Given the description of an element on the screen output the (x, y) to click on. 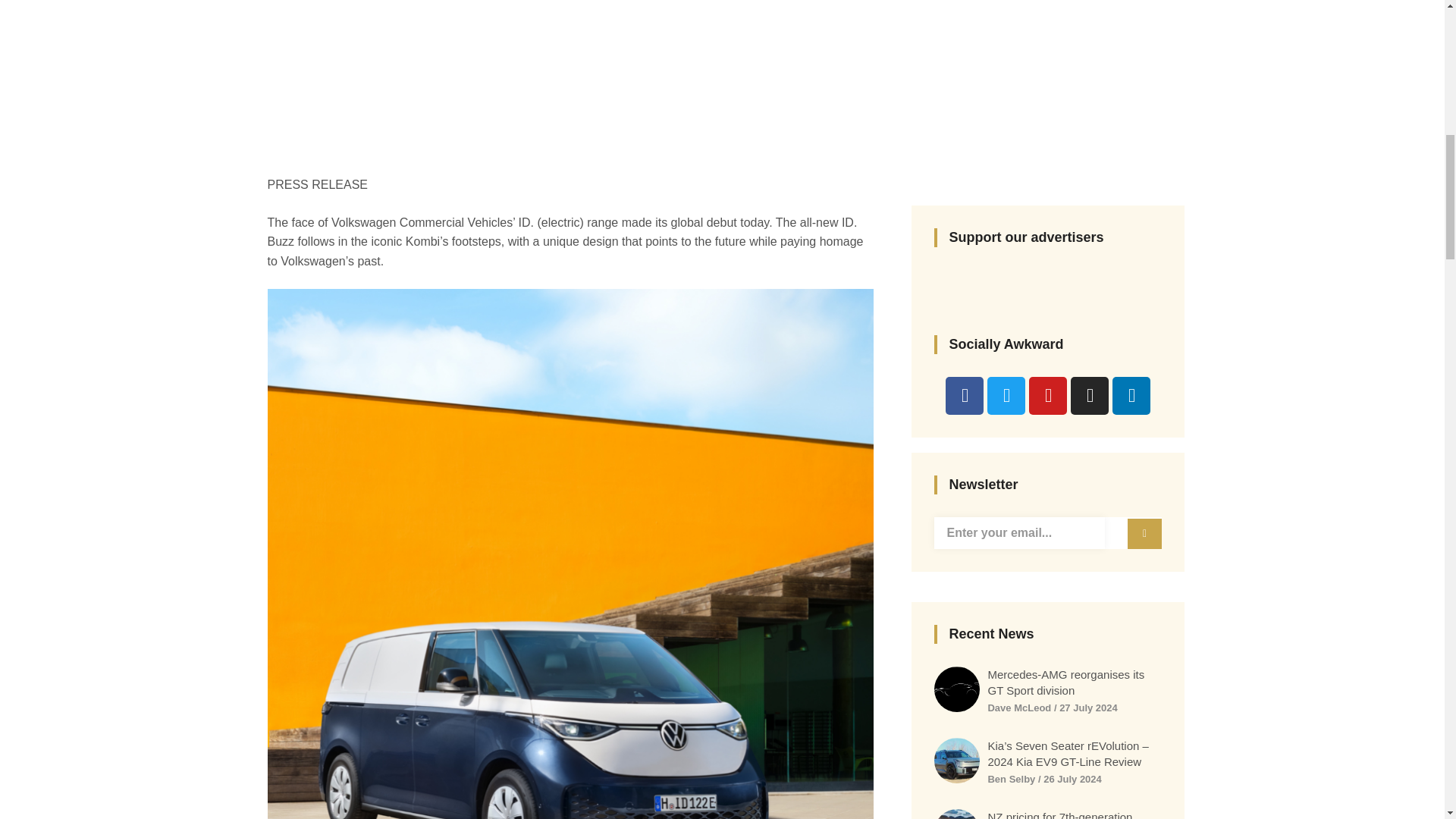
Advertisement (722, 53)
